Given the description of an element on the screen output the (x, y) to click on. 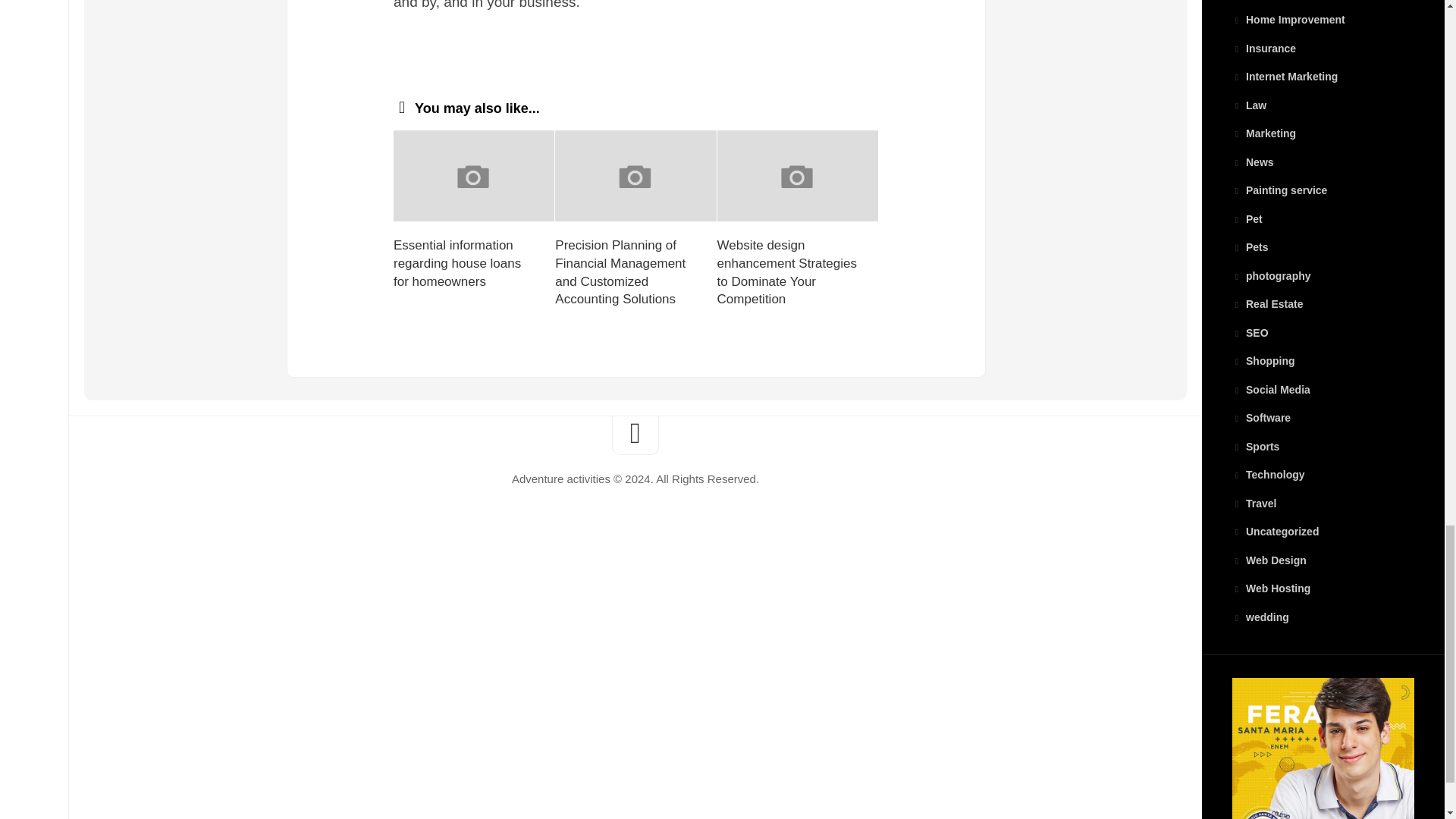
Insurance (1263, 48)
Internet Marketing (1284, 76)
Home Improvement (1288, 19)
Law (1248, 105)
